Given the description of an element on the screen output the (x, y) to click on. 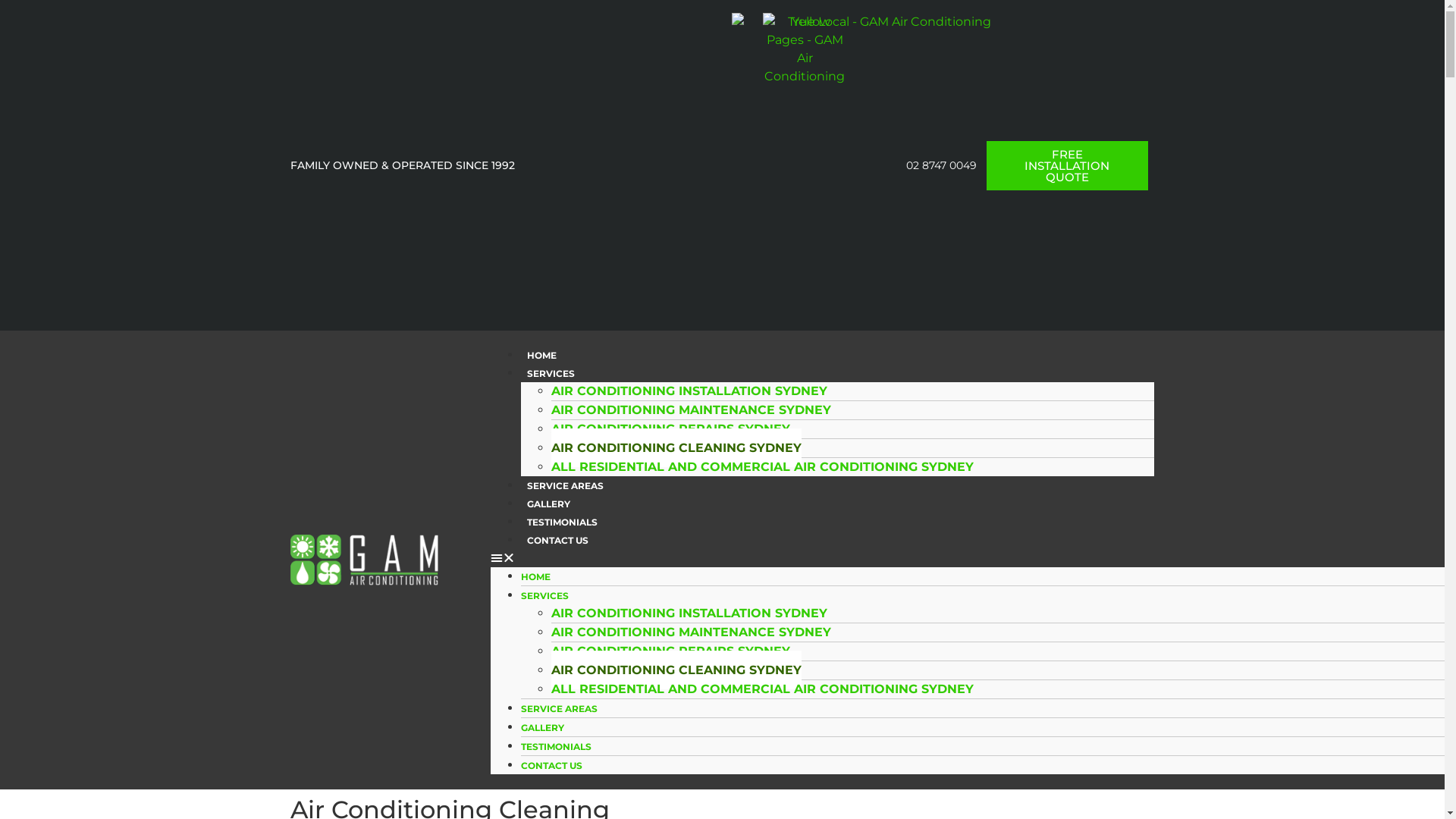
AIR CONDITIONING REPAIRS SYDNEY Element type: text (670, 650)
AIR CONDITIONING REPAIRS SYDNEY Element type: text (670, 428)
AIR CONDITIONING INSTALLATION SYDNEY Element type: text (689, 390)
ALL RESIDENTIAL AND COMMERCIAL AIR CONDITIONING SYDNEY Element type: text (762, 688)
TESTIMONIALS Element type: text (561, 521)
SERVICE AREAS Element type: text (564, 485)
AIR CONDITIONING MAINTENANCE SYDNEY Element type: text (691, 631)
ALL RESIDENTIAL AND COMMERCIAL AIR CONDITIONING SYDNEY Element type: text (762, 466)
SERVICES Element type: text (544, 595)
GALLERY Element type: text (542, 727)
02 8747 0049 Element type: text (926, 165)
AIR CONDITIONING MAINTENANCE SYDNEY Element type: text (691, 409)
GALLERY Element type: text (548, 503)
SERVICES Element type: text (550, 373)
HOME Element type: text (535, 576)
AIR CONDITIONING INSTALLATION SYDNEY Element type: text (689, 612)
AIR CONDITIONING CLEANING SYDNEY Element type: text (676, 447)
CONTACT US Element type: text (551, 765)
SERVICE AREAS Element type: text (558, 708)
CONTACT US Element type: text (557, 540)
HOME Element type: text (541, 354)
FREE INSTALLATION QUOTE Element type: text (1067, 165)
AIR CONDITIONING CLEANING SYDNEY Element type: text (676, 669)
TESTIMONIALS Element type: text (555, 746)
